Given the description of an element on the screen output the (x, y) to click on. 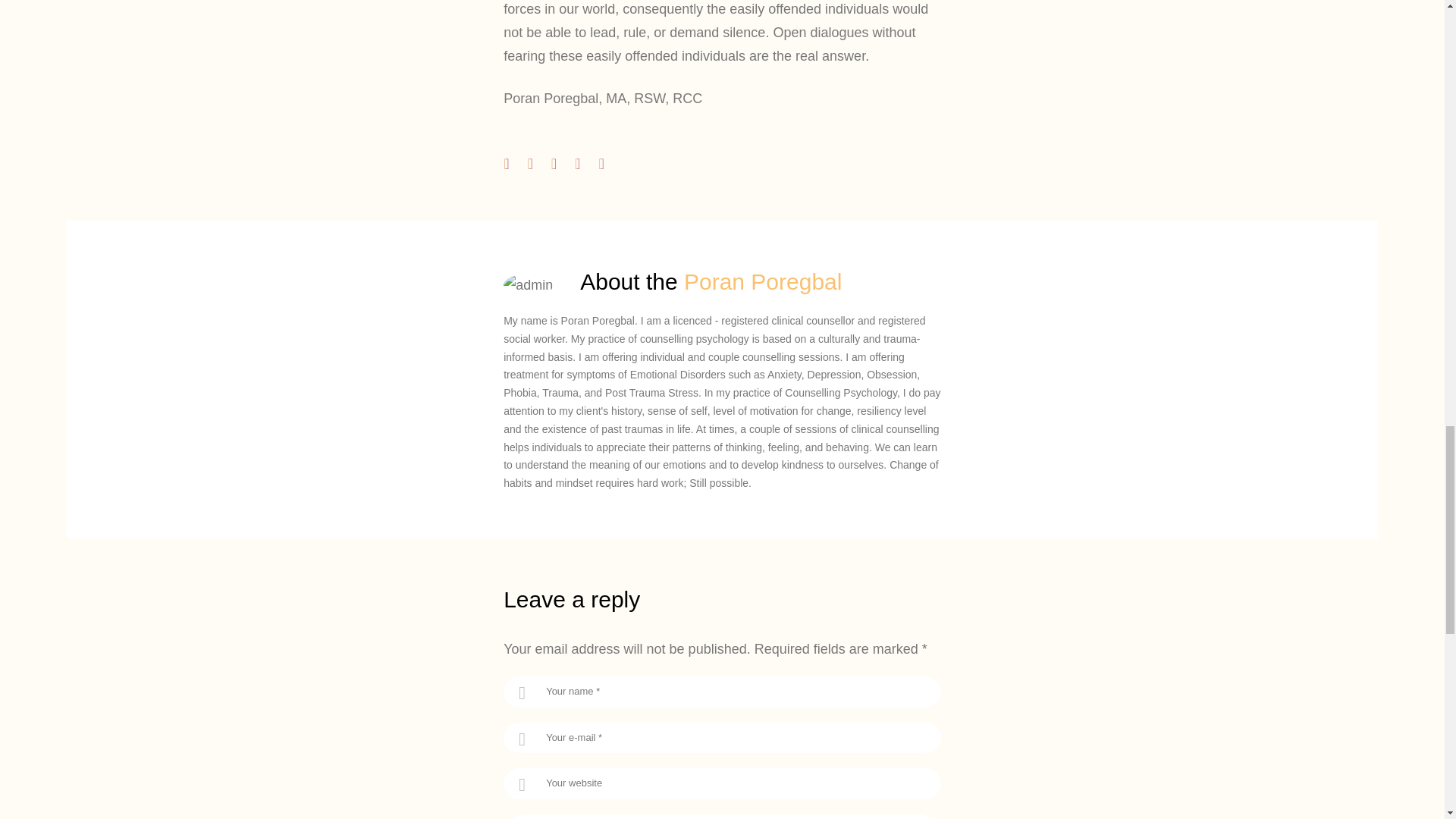
Poran Poregbal (762, 281)
Posts by Poran Poregbal (762, 281)
